Given the description of an element on the screen output the (x, y) to click on. 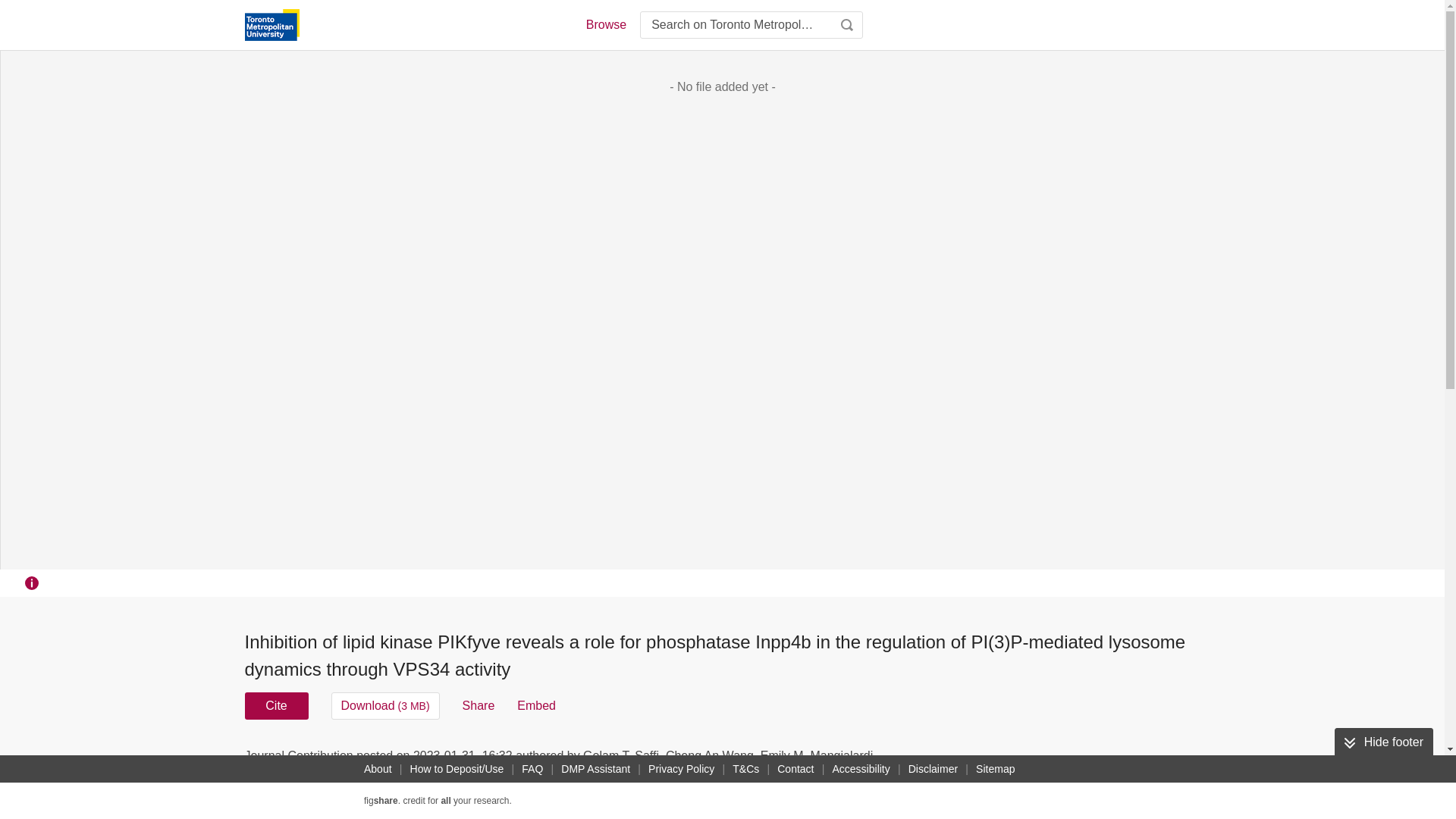
About (377, 769)
Cite (275, 705)
Embed (536, 705)
Privacy Policy (681, 769)
Roberto Botelho (471, 773)
Contact (795, 769)
Share (479, 705)
DMP Assistant (595, 769)
USAGE METRICS (976, 759)
Accessibility (861, 769)
